Given the description of an element on the screen output the (x, y) to click on. 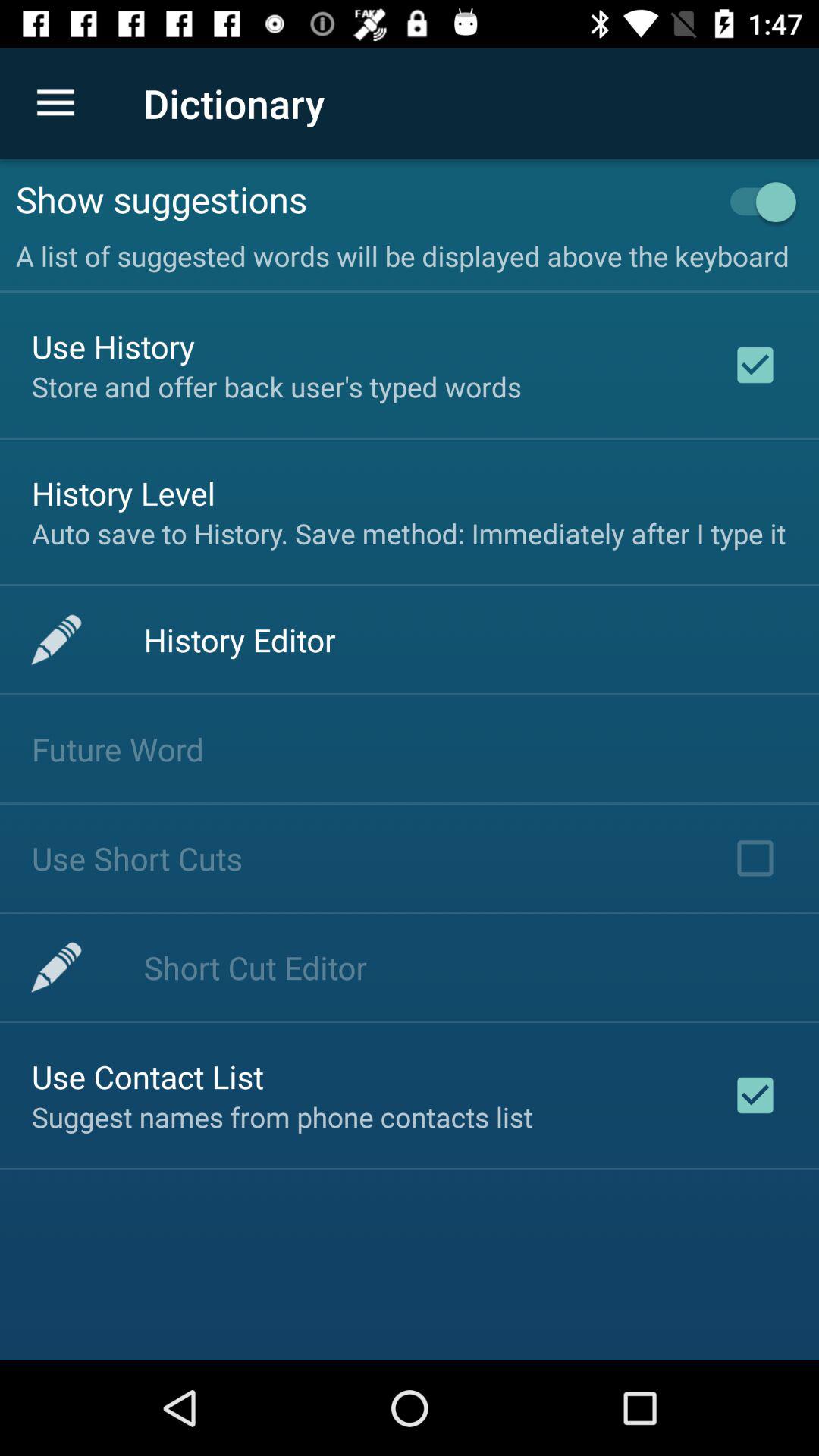
open icon below use history icon (276, 386)
